Given the description of an element on the screen output the (x, y) to click on. 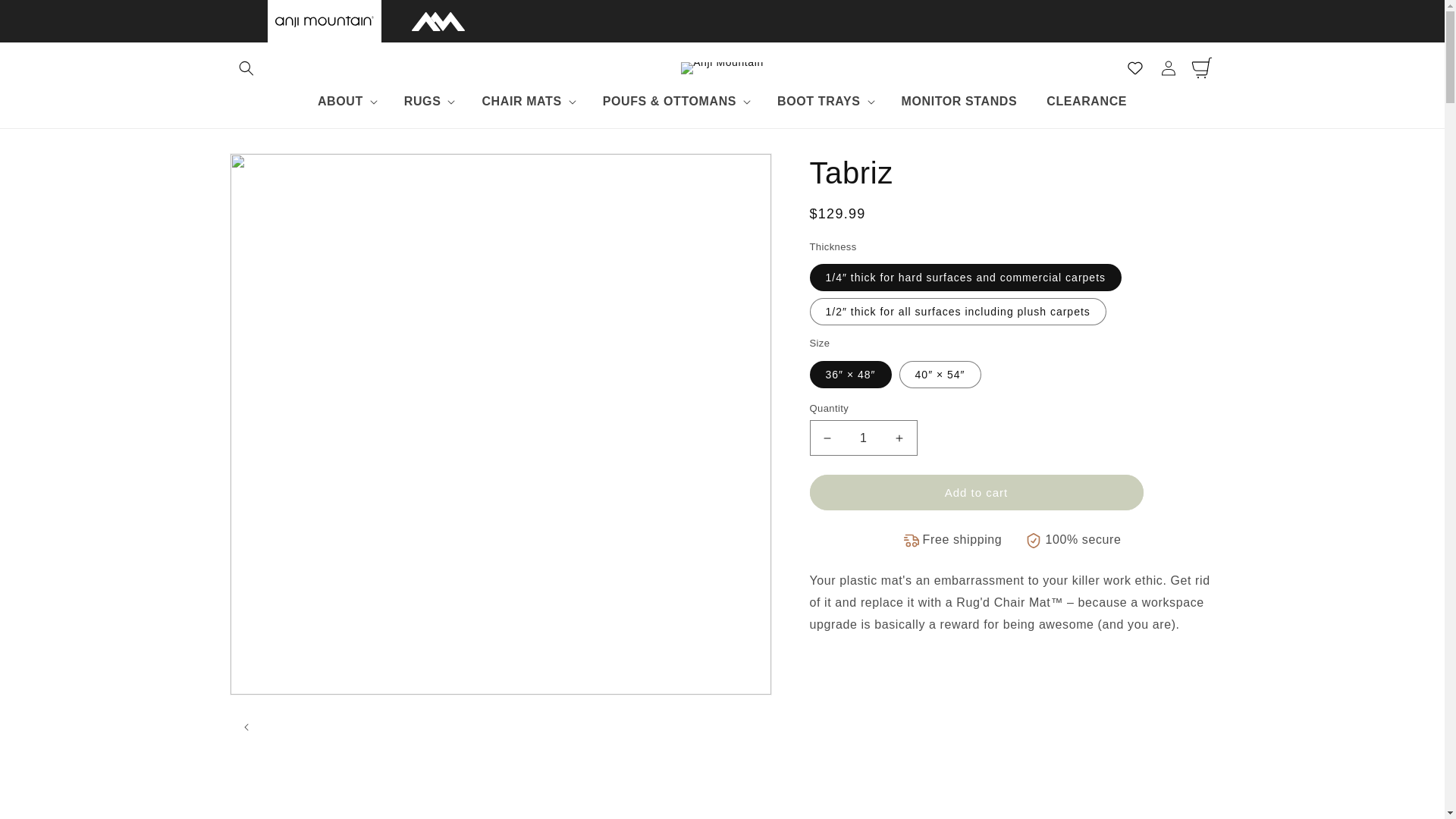
1 (863, 437)
Skip to content (45, 17)
Anji Mountain (323, 20)
AnjiMTX (437, 20)
Cart (1201, 68)
